Given the description of an element on the screen output the (x, y) to click on. 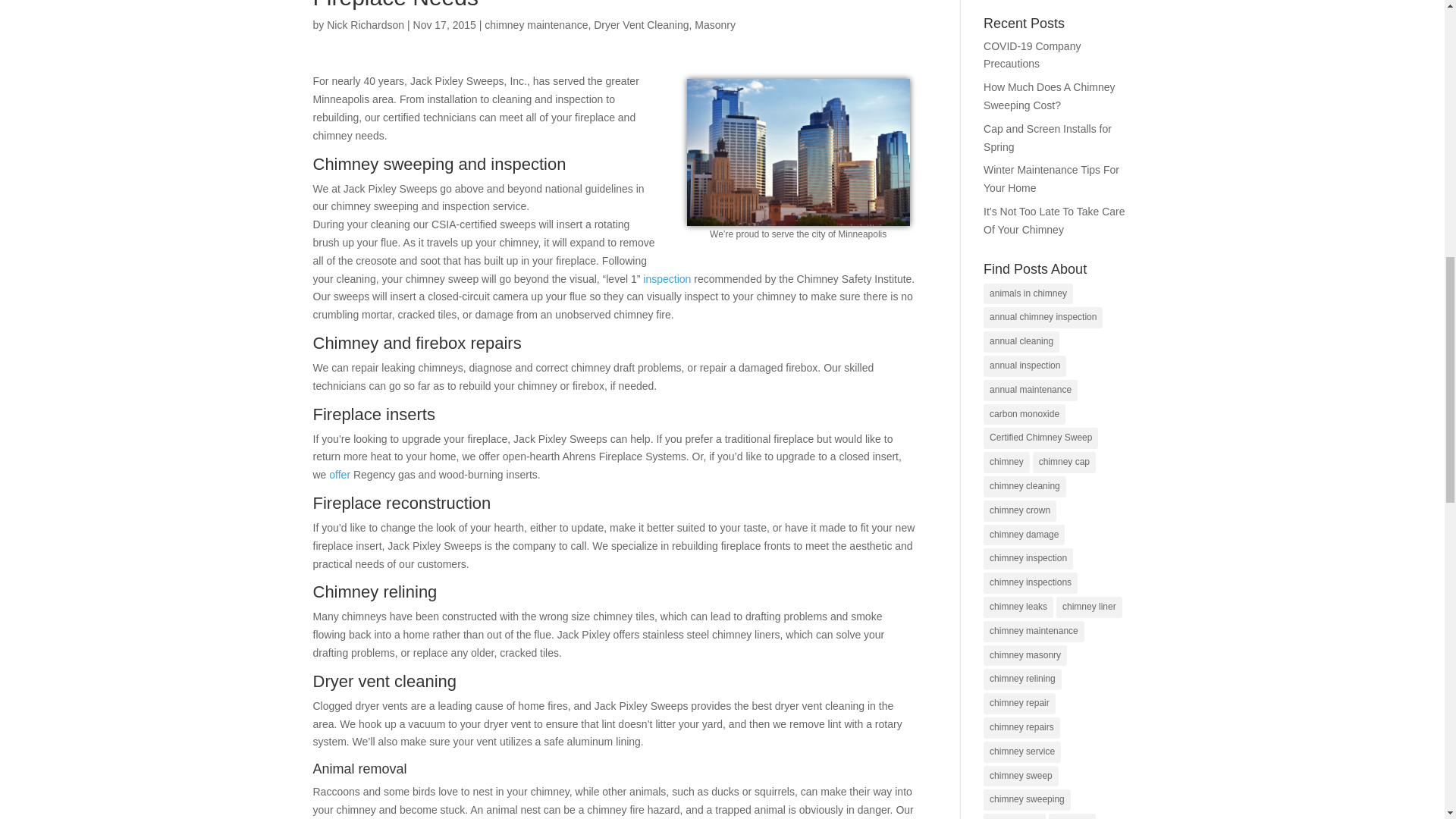
Dryer Vent Cleaning (641, 24)
inspection (666, 278)
Nick Richardson (365, 24)
chimney maintenance (536, 24)
How Much Does A Chimney Sweeping Cost? (1049, 96)
Masonry (714, 24)
offer (339, 474)
COVID-19 Company Precautions (1032, 55)
Posts by Nick Richardson (365, 24)
